Given the description of an element on the screen output the (x, y) to click on. 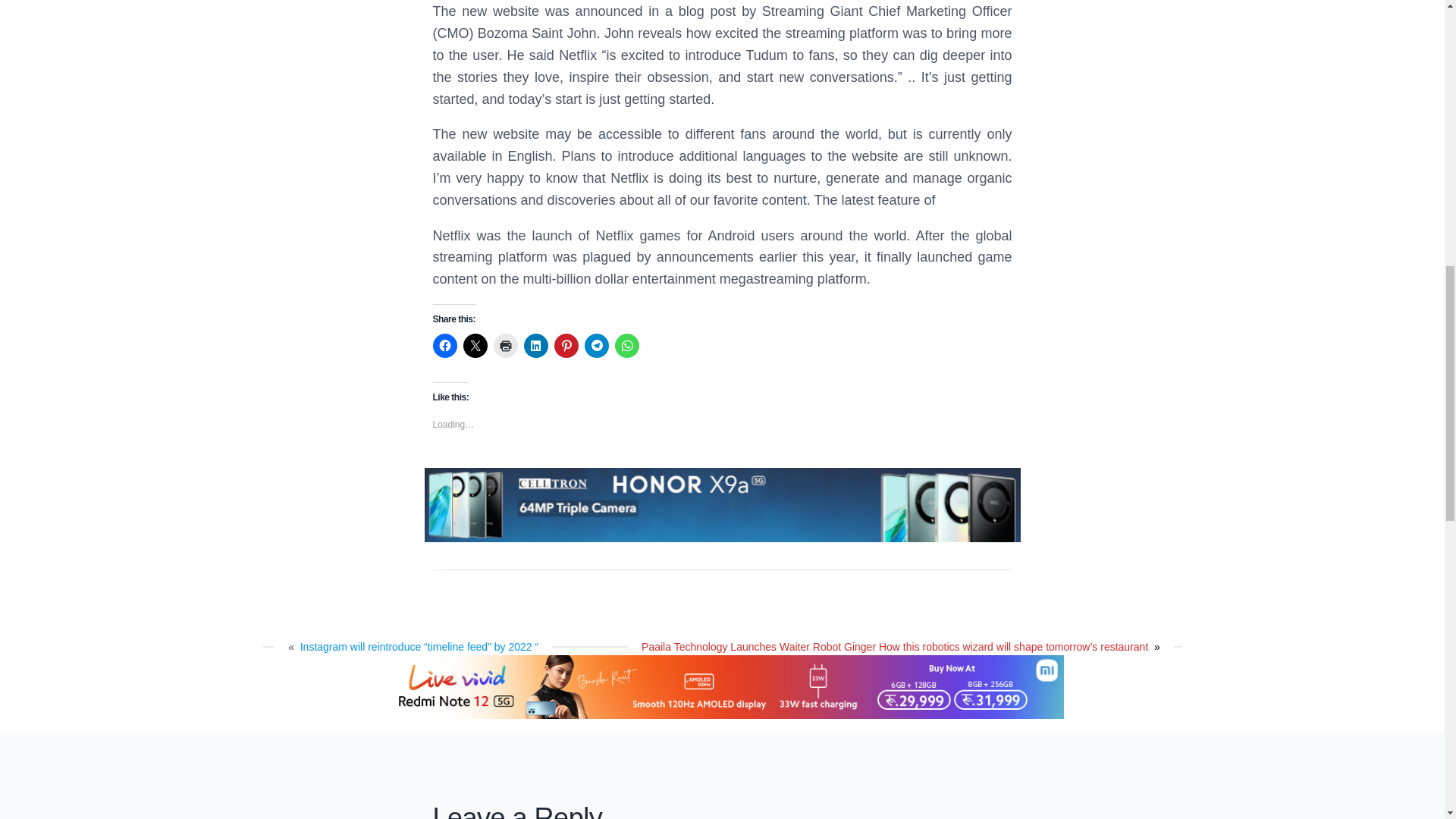
Click to print (504, 345)
Click to share on WhatsApp (626, 345)
Click to share on X (474, 345)
Click to share on Facebook (444, 345)
Click to share on Telegram (595, 345)
Click to share on LinkedIn (534, 345)
Click to share on Pinterest (565, 345)
